Given the description of an element on the screen output the (x, y) to click on. 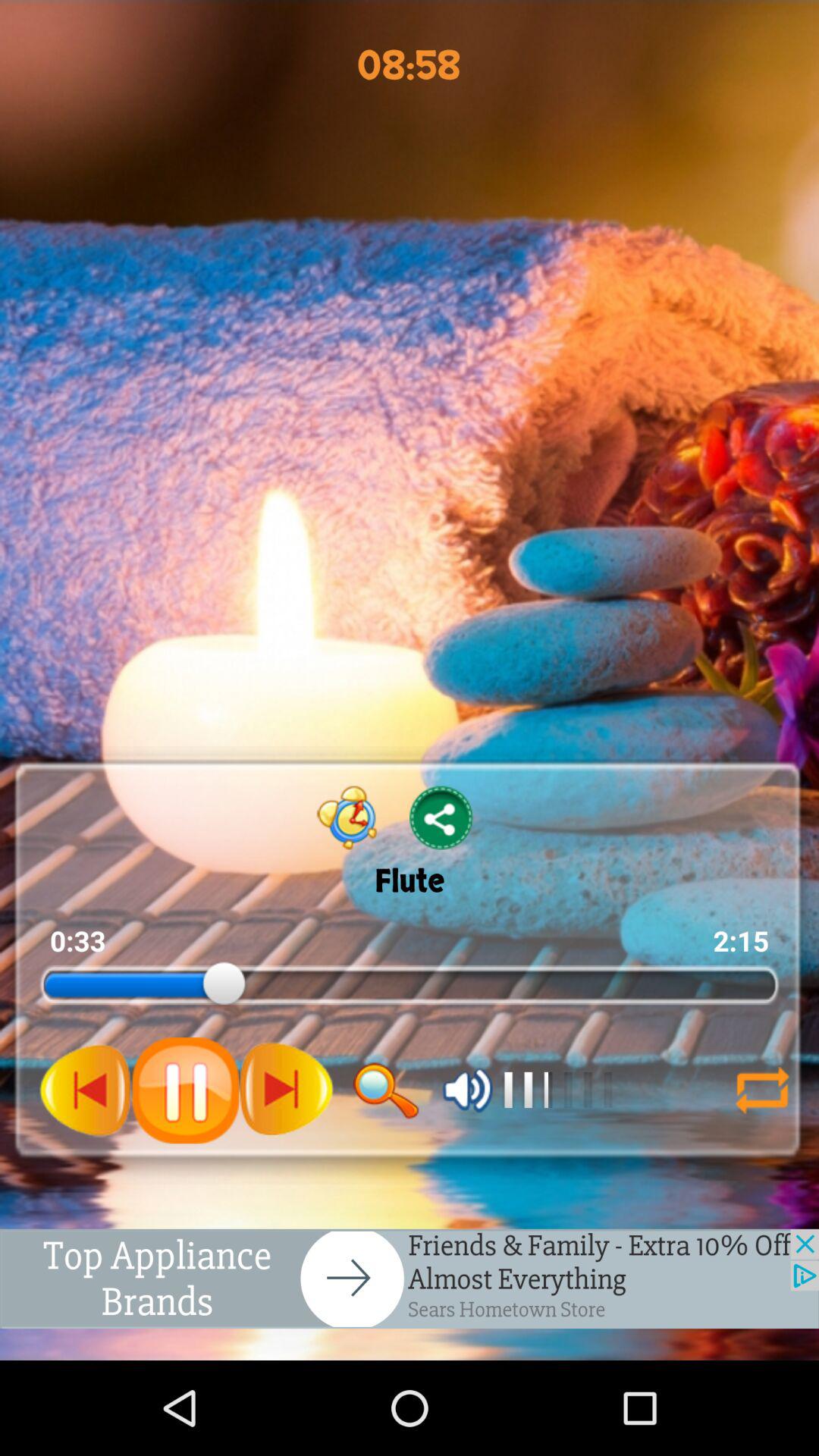
speaker (467, 1089)
